Given the description of an element on the screen output the (x, y) to click on. 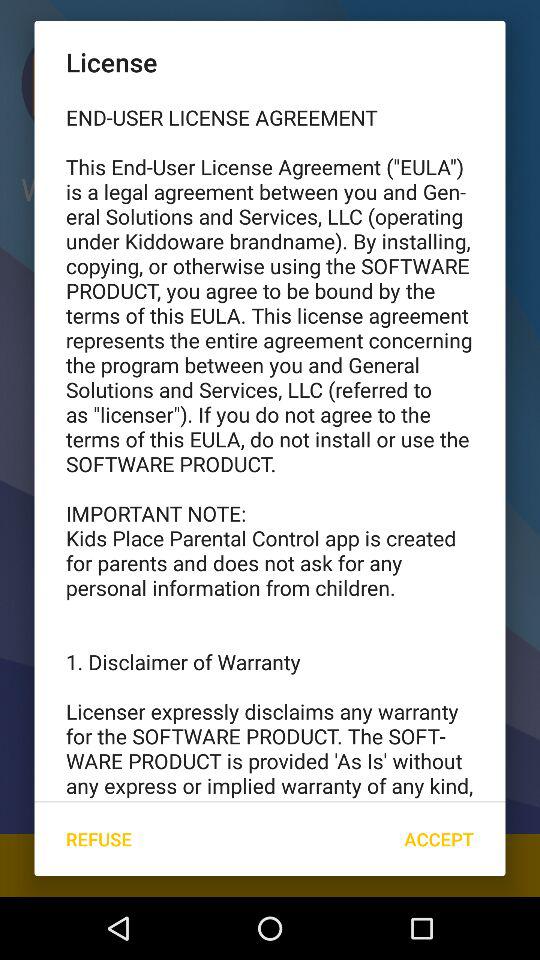
tap the refuse (98, 838)
